Given the description of an element on the screen output the (x, y) to click on. 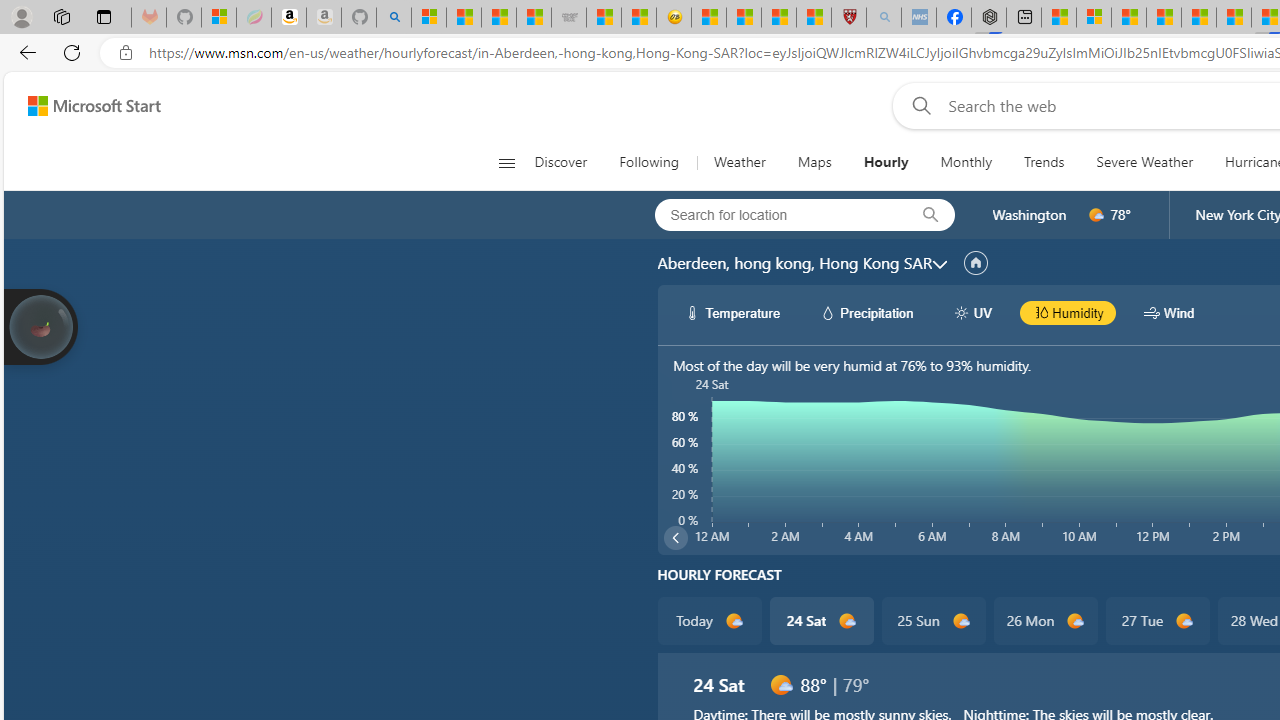
Trends (1044, 162)
Aberdeen, hong kong, Hong Kong SAR (794, 263)
common/carouselChevron (675, 538)
Monthly (966, 162)
